Given the description of an element on the screen output the (x, y) to click on. 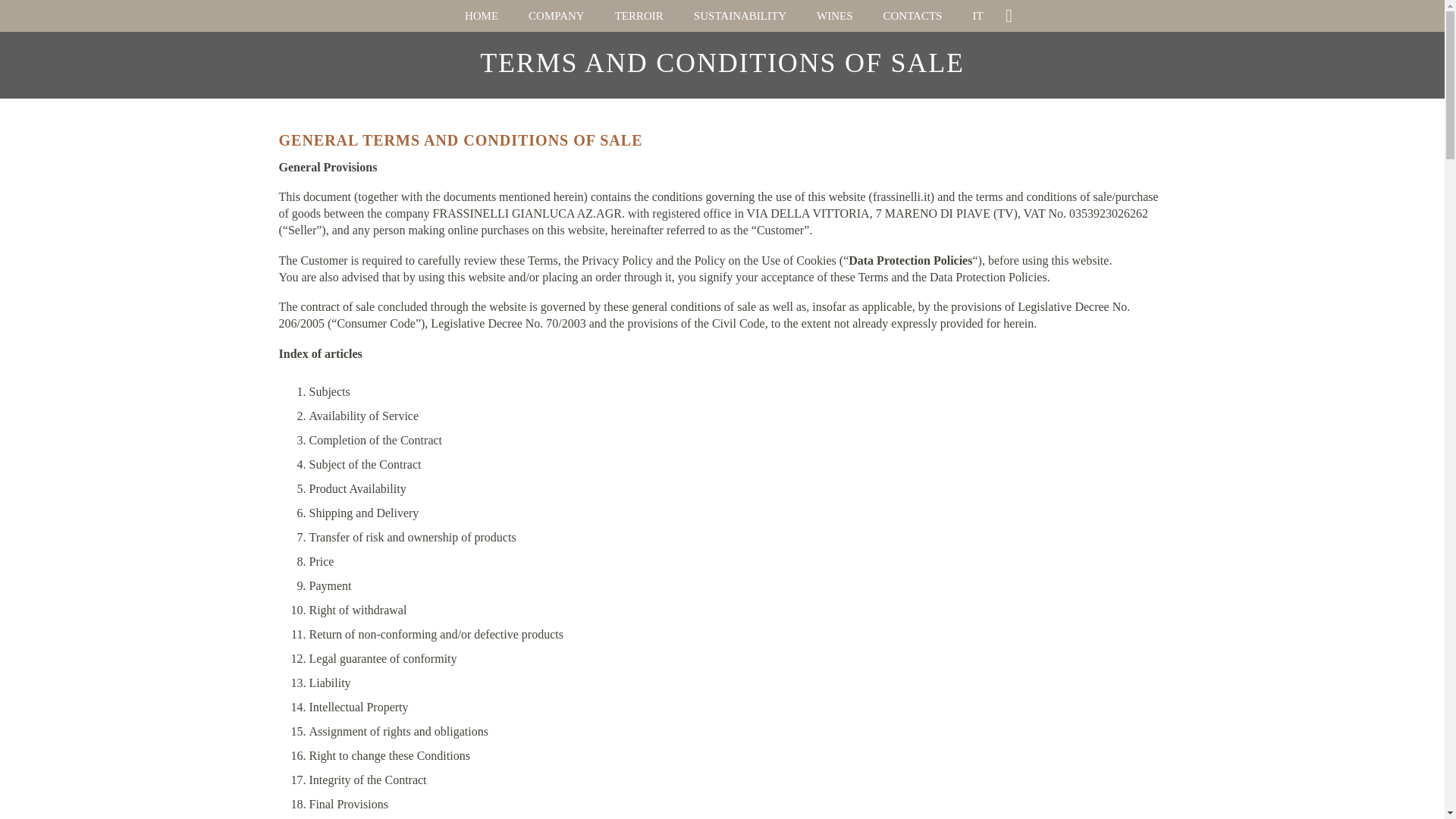
IT (976, 15)
SUSTAINABILITY (740, 15)
CONTACTS (911, 15)
WINES (834, 15)
HOME (481, 15)
TERROIR (638, 15)
COMPANY (556, 15)
IT (976, 15)
